Given the description of an element on the screen output the (x, y) to click on. 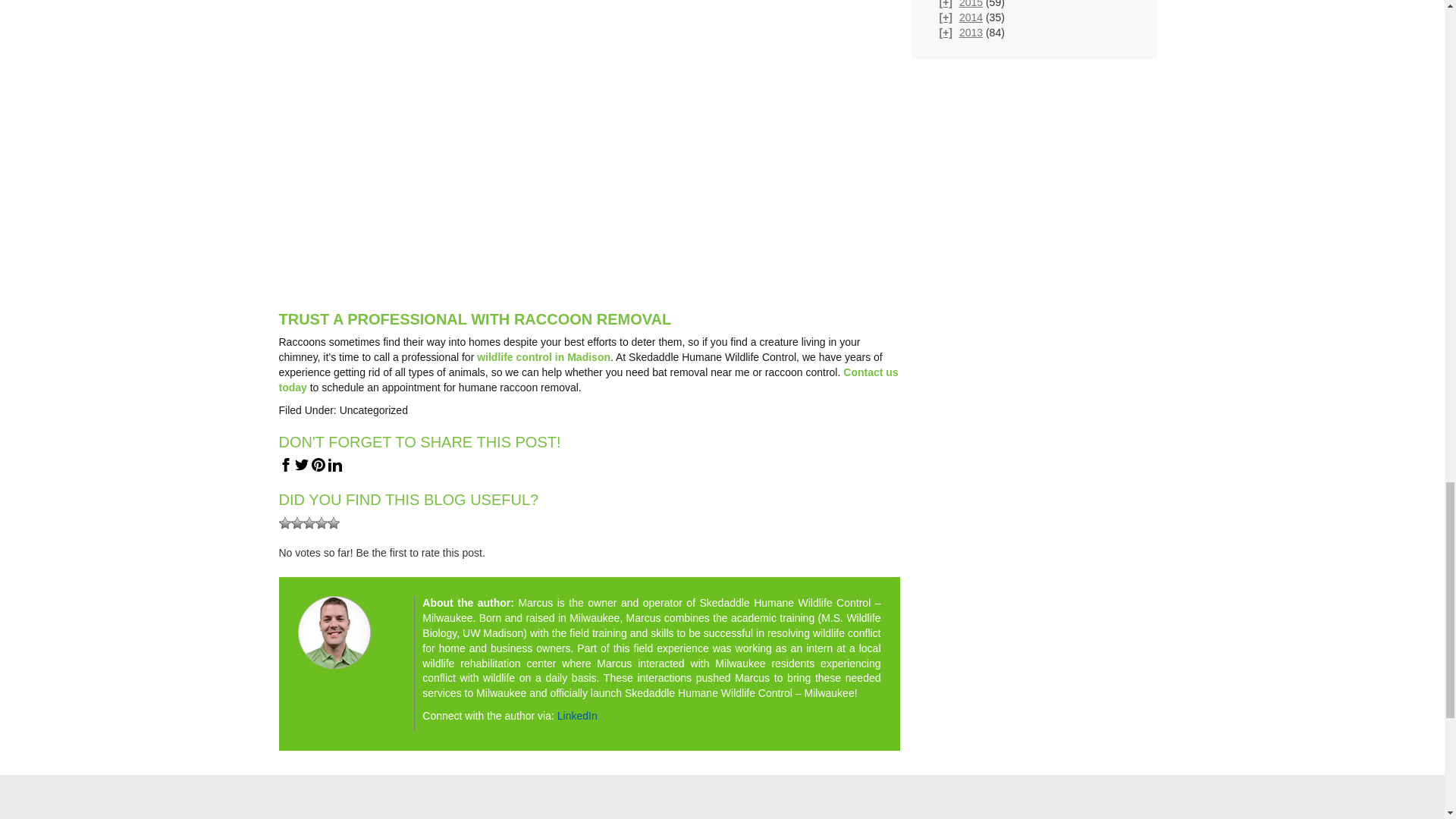
LinkedIn (576, 715)
wildlife control in Madison (543, 357)
Contact us today (588, 379)
